Given the description of an element on the screen output the (x, y) to click on. 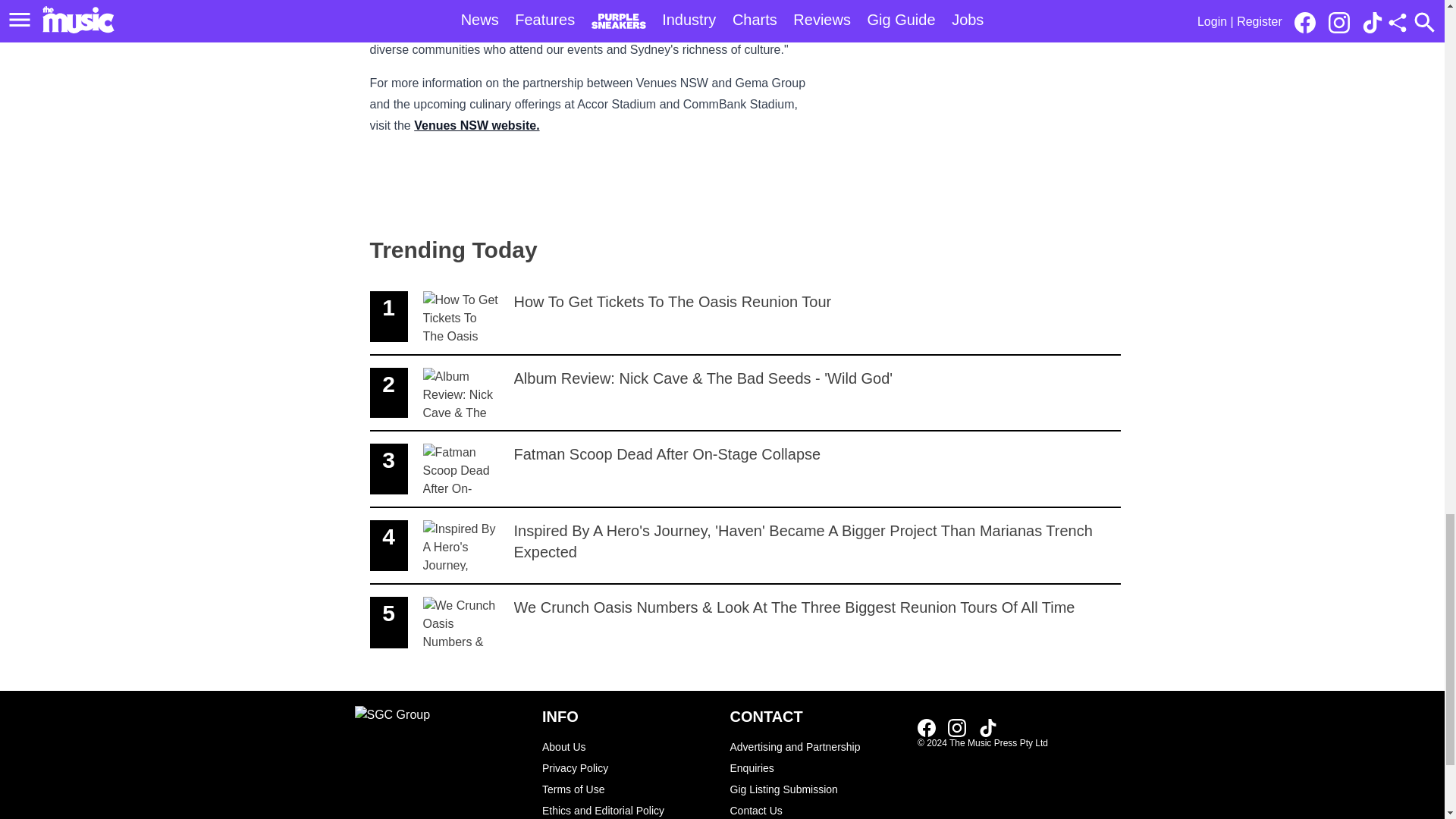
Link to our Facebook (745, 469)
Gig Listing Submission (926, 728)
Terms of Use (745, 317)
Ethics and Editorial Policy (815, 789)
Venues NSW website. (627, 789)
Link to our Instagram (627, 809)
Link to our TikTok (475, 124)
